Given the description of an element on the screen output the (x, y) to click on. 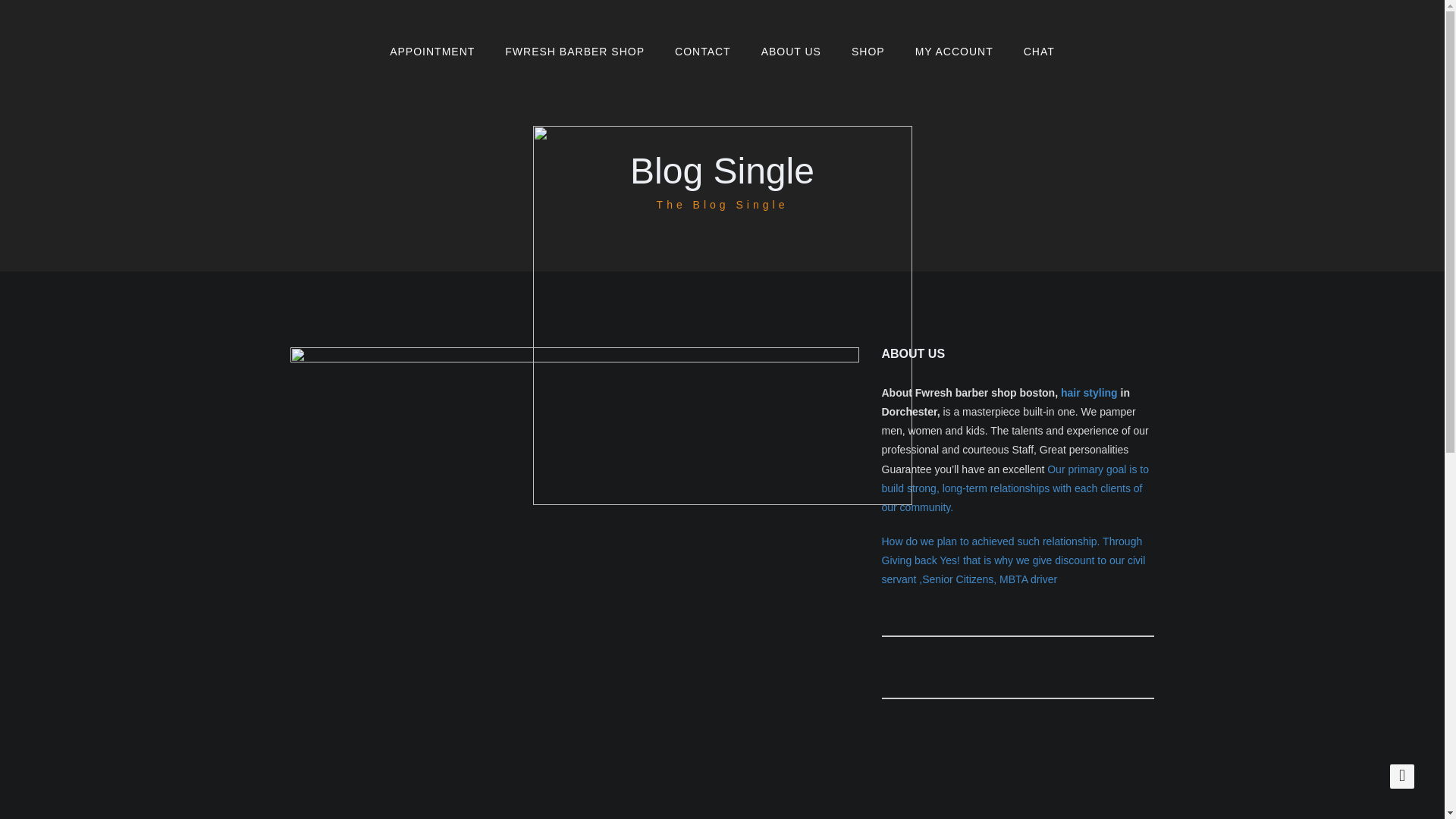
Shop (867, 51)
FWRESH BARBER SHOP (574, 51)
MY ACCOUNT (954, 51)
SHOP (867, 51)
Appointment (431, 51)
hair styling (1089, 392)
My account (954, 51)
ABOUT US (790, 51)
Fwresh Barber Shop (574, 51)
